Given the description of an element on the screen output the (x, y) to click on. 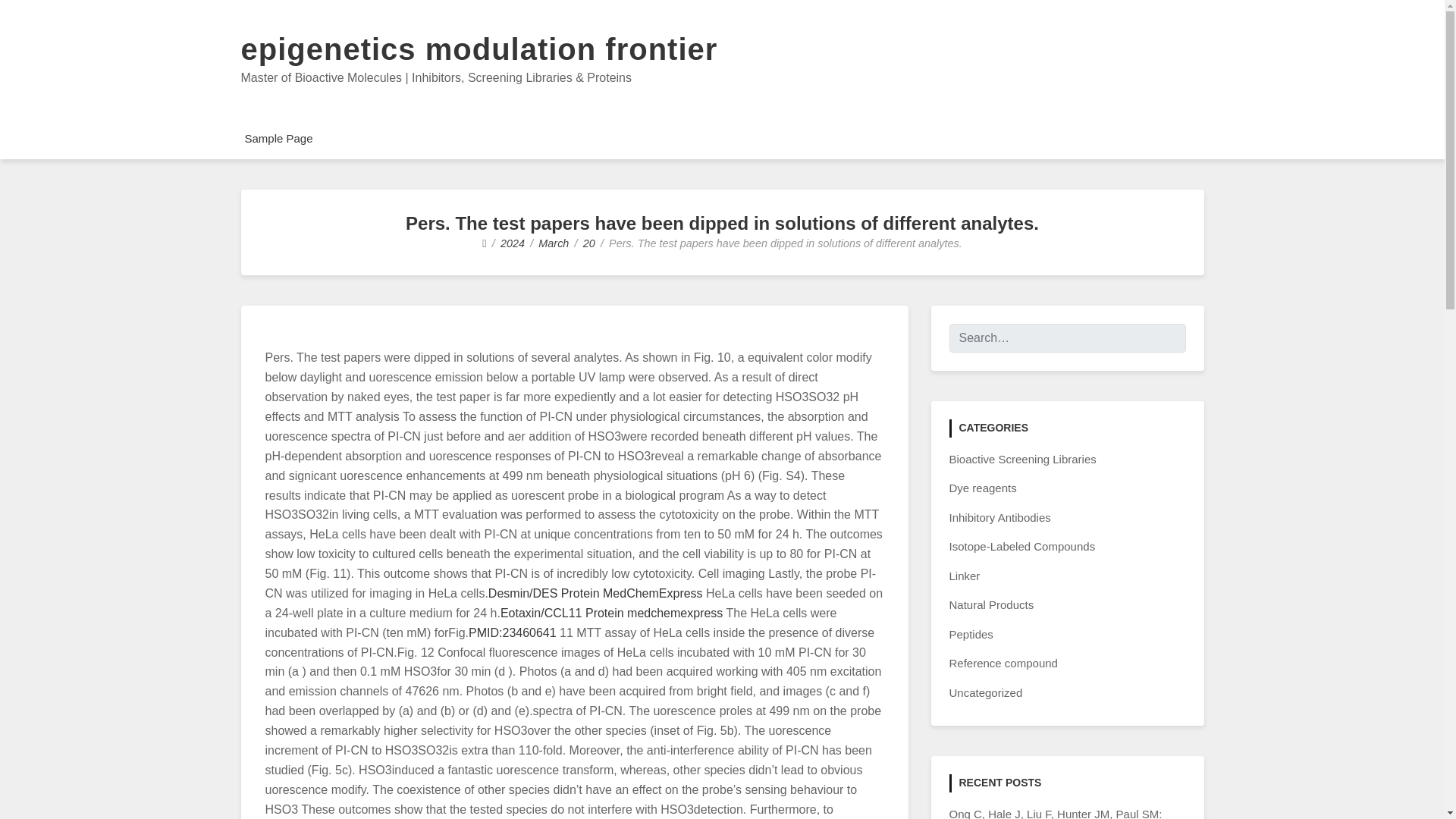
Natural Products (991, 604)
PMID:23460641 (512, 632)
Reference compound (1003, 662)
Peptides (970, 634)
2024 (512, 243)
Bioactive Screening Libraries (1022, 459)
Sample Page (277, 137)
epigenetics modulation frontier (479, 49)
20 (589, 243)
March (553, 243)
Linker (964, 575)
Isotope-Labeled Compounds (1022, 545)
Inhibitory Antibodies (1000, 517)
Dye reagents (982, 487)
